Given the description of an element on the screen output the (x, y) to click on. 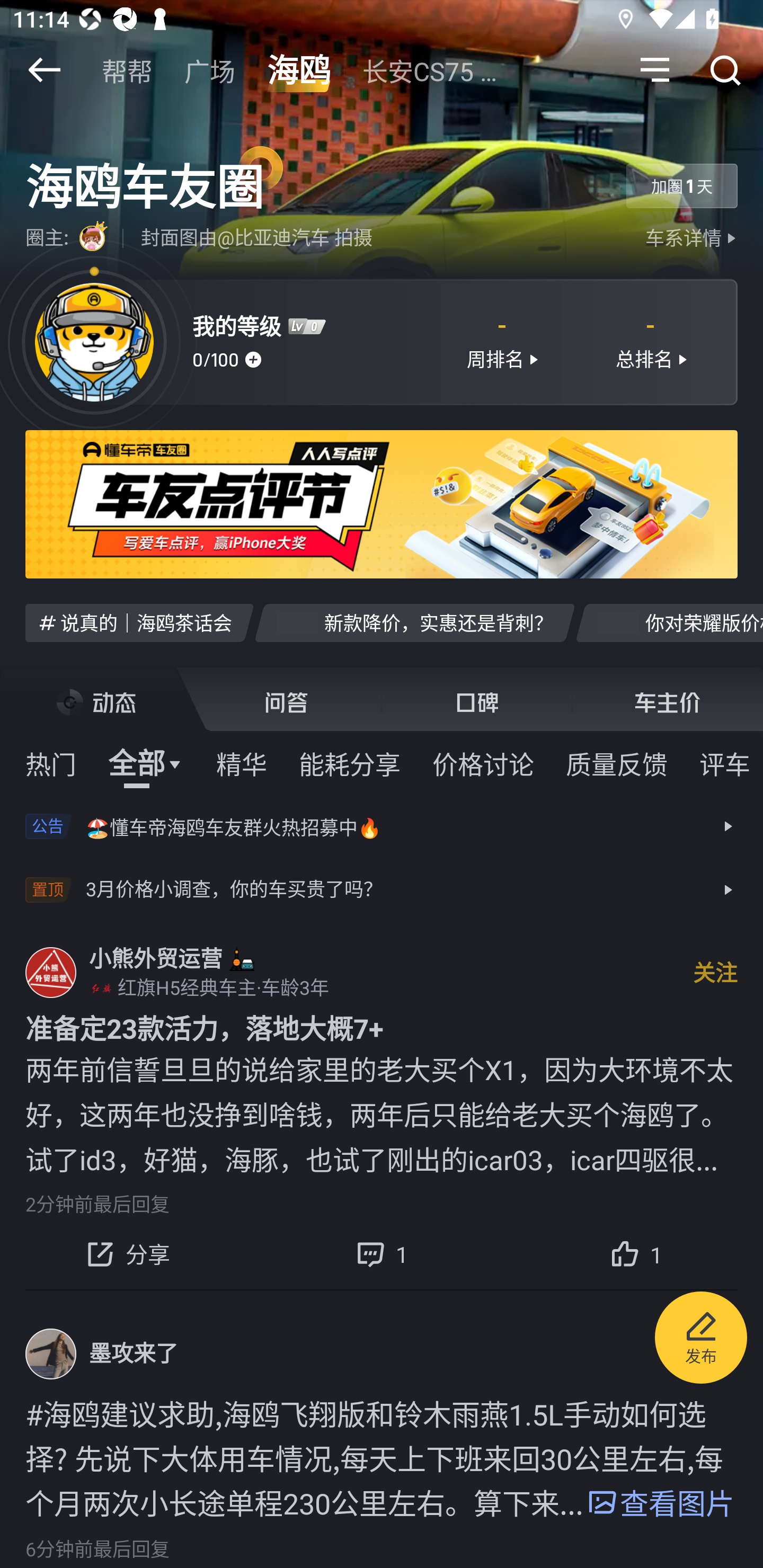
帮帮 (126, 69)
广场 (209, 69)
海鸥 (298, 69)
长安CS75 … (429, 69)
 (654, 69)
 (724, 69)
圈主: (83, 238)
车系详情 (692, 238)
我的等级 0/100  (307, 341)
- 周排名 (501, 341)
- 总排名 (650, 341)
 说真的｜海鸥茶话会 (139, 622)
打卡 新款降价，实惠还是背刺？ (414, 622)
打卡 你对荣耀版价格满意吗？ (669, 622)
热门 (50, 762)
全部  (146, 762)
精华 (241, 762)
能耗分享 (349, 762)
价格讨论 (483, 762)
质量反馈 (616, 762)
评车 (724, 762)
公告 🏖️懂车帝海鸥车友群火热招募中🔥  置顶 3月价格小调查，你的车买贵了吗？  (381, 857)
公告 🏖️懂车帝海鸥车友群火热招募中🔥  (381, 825)
置顶 3月价格小调查，你的车买贵了吗？  (381, 889)
小熊外贸运营 (155, 957)
关注 (714, 971)
 分享 (127, 1253)
 1 (381, 1253)
1 (635, 1253)
 发布 (701, 1341)
墨攻来了 (133, 1353)
